Given the description of an element on the screen output the (x, y) to click on. 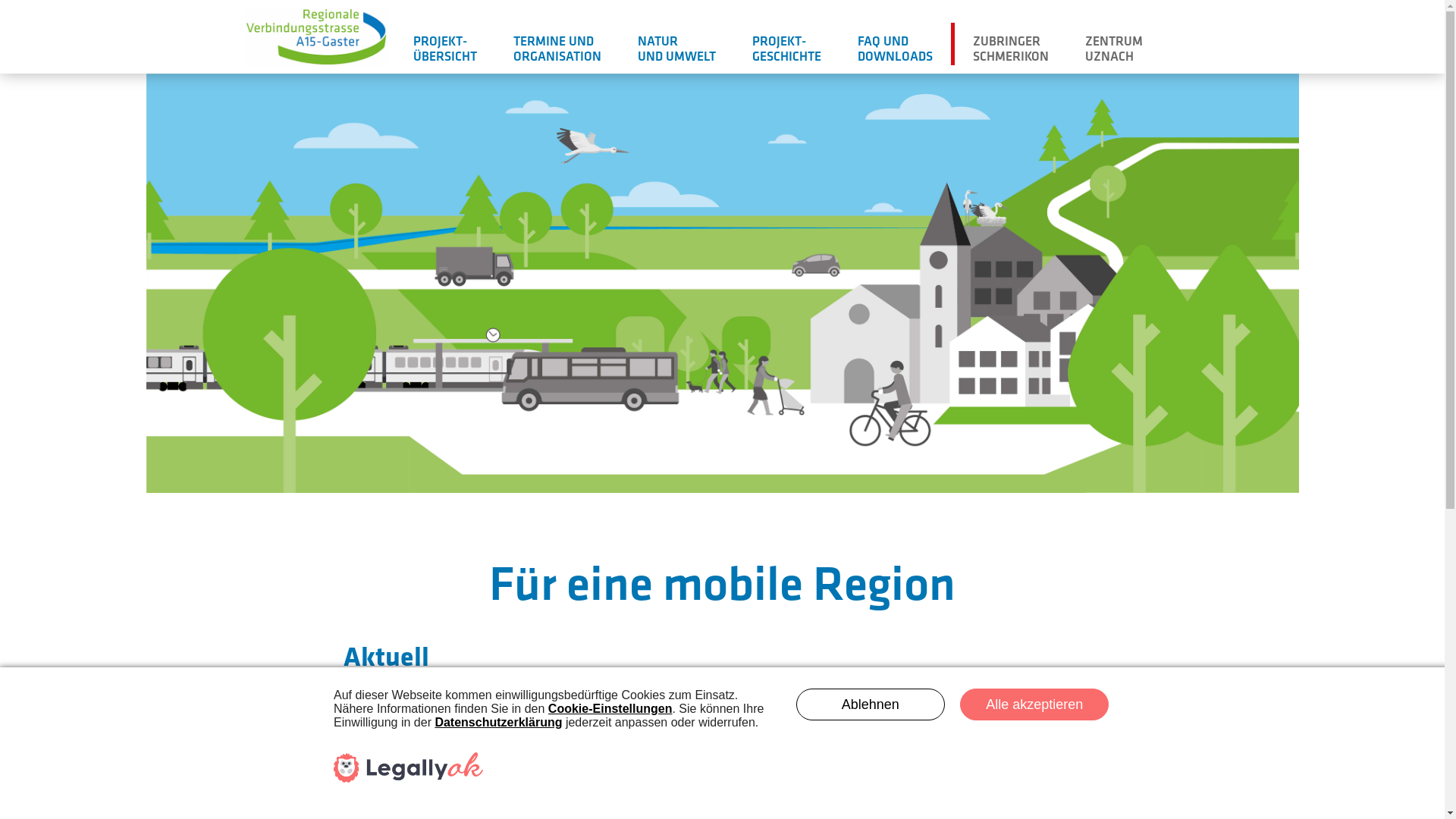
ZENTRUM UZNACH Element type: text (1113, 46)
TERMINE UND ORGANISATION Element type: text (557, 46)
NATUR UND UMWELT Element type: text (676, 46)
FAQ UND DOWNLOADS Element type: text (894, 46)
ZUBRINGER SCHMERIKON Element type: text (1010, 46)
Regionale Verbindungsstrasse A15-Gaster Element type: hover (315, 36)
